Given the description of an element on the screen output the (x, y) to click on. 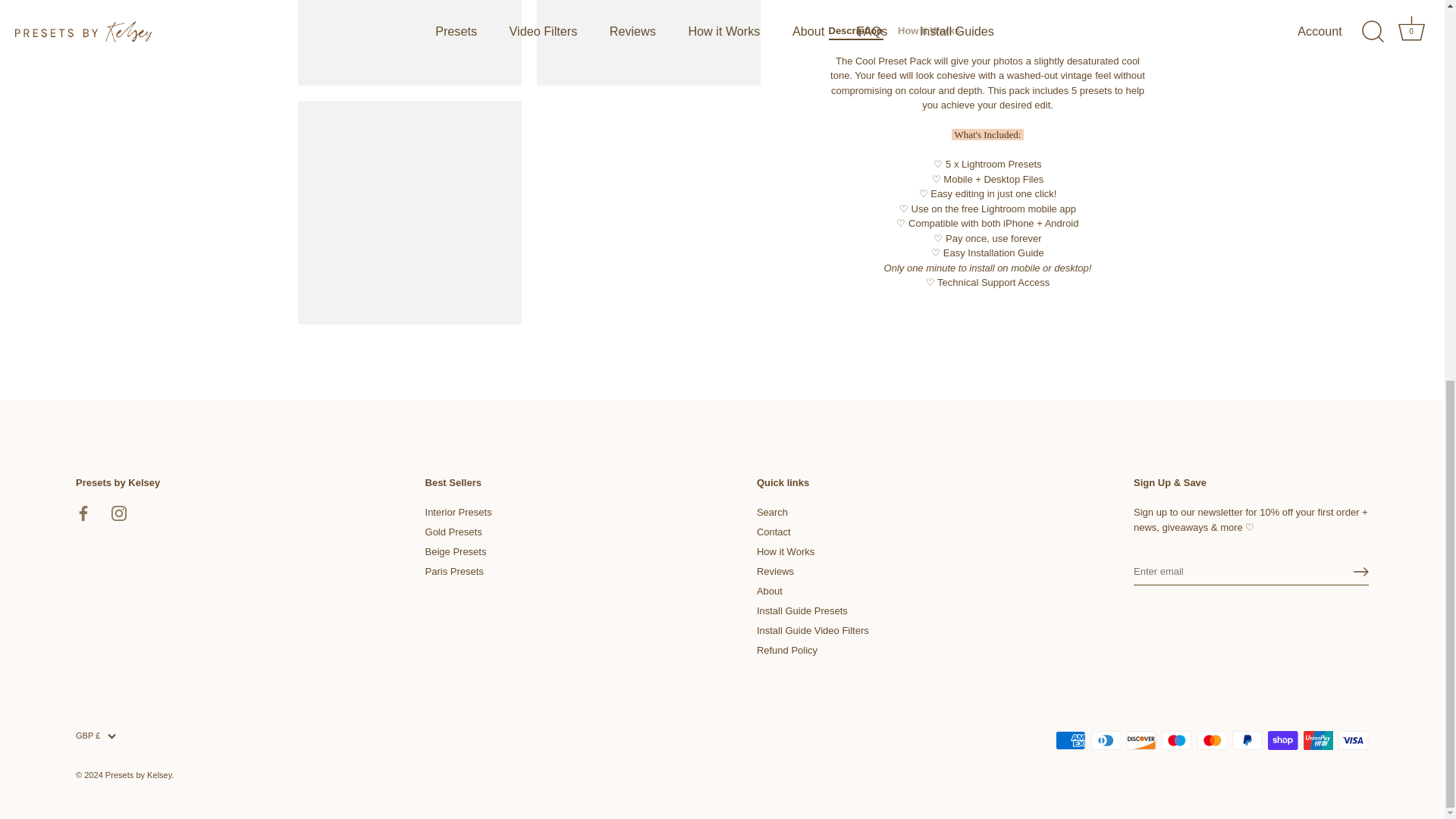
Maestro (1176, 740)
Union Pay (1318, 740)
PayPal (1246, 740)
Visa (1353, 740)
Mastercard (1211, 740)
American Express (1070, 740)
Shop Pay (1282, 740)
Instagram (119, 513)
Diners Club (1105, 740)
Discover (1140, 740)
RIGHT ARROW LONG (1361, 571)
